Given the description of an element on the screen output the (x, y) to click on. 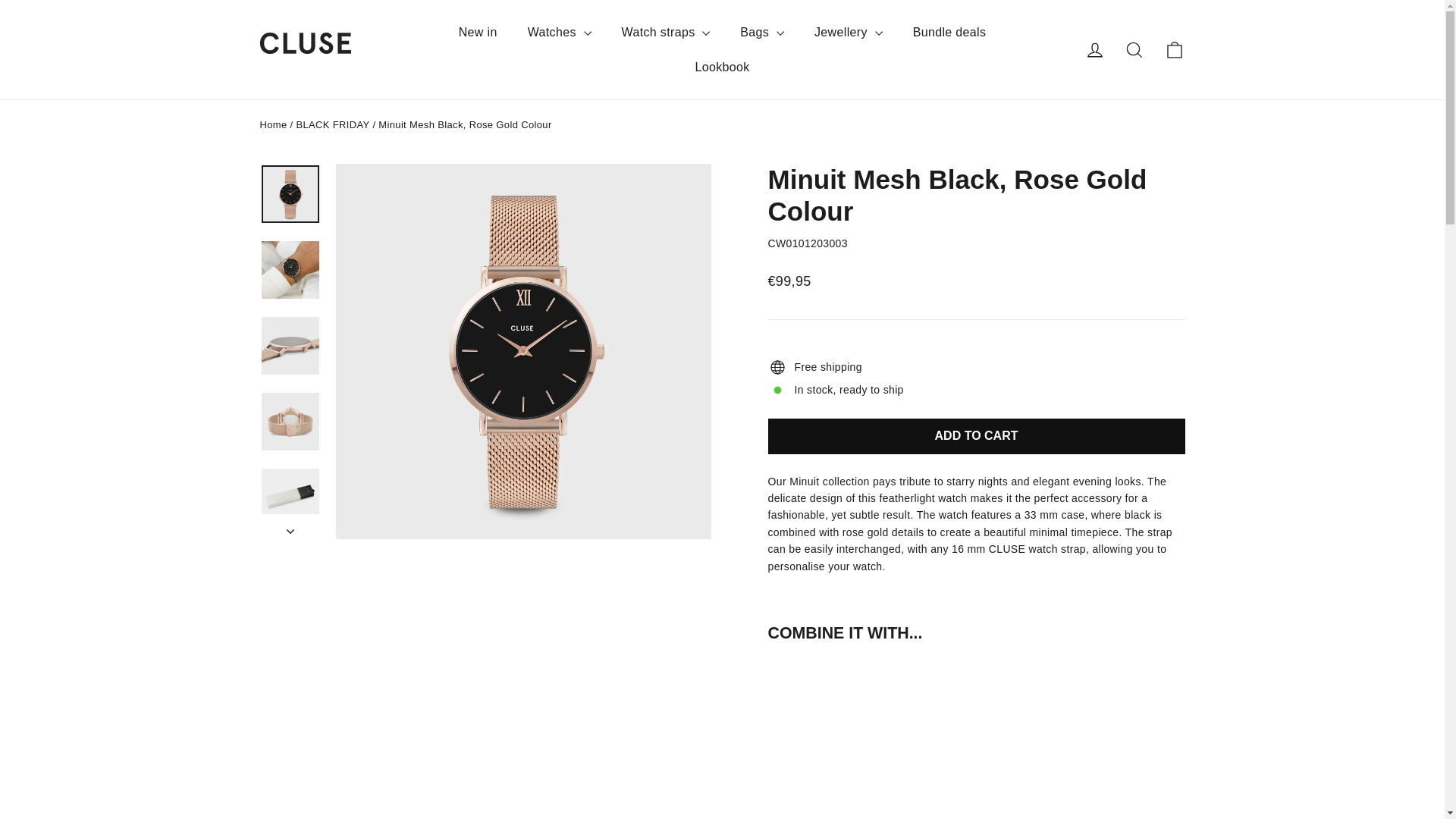
icon-bag-minimal (1174, 49)
icon-search (1134, 49)
Back to the frontpage (272, 124)
account (1094, 49)
